Given the description of an element on the screen output the (x, y) to click on. 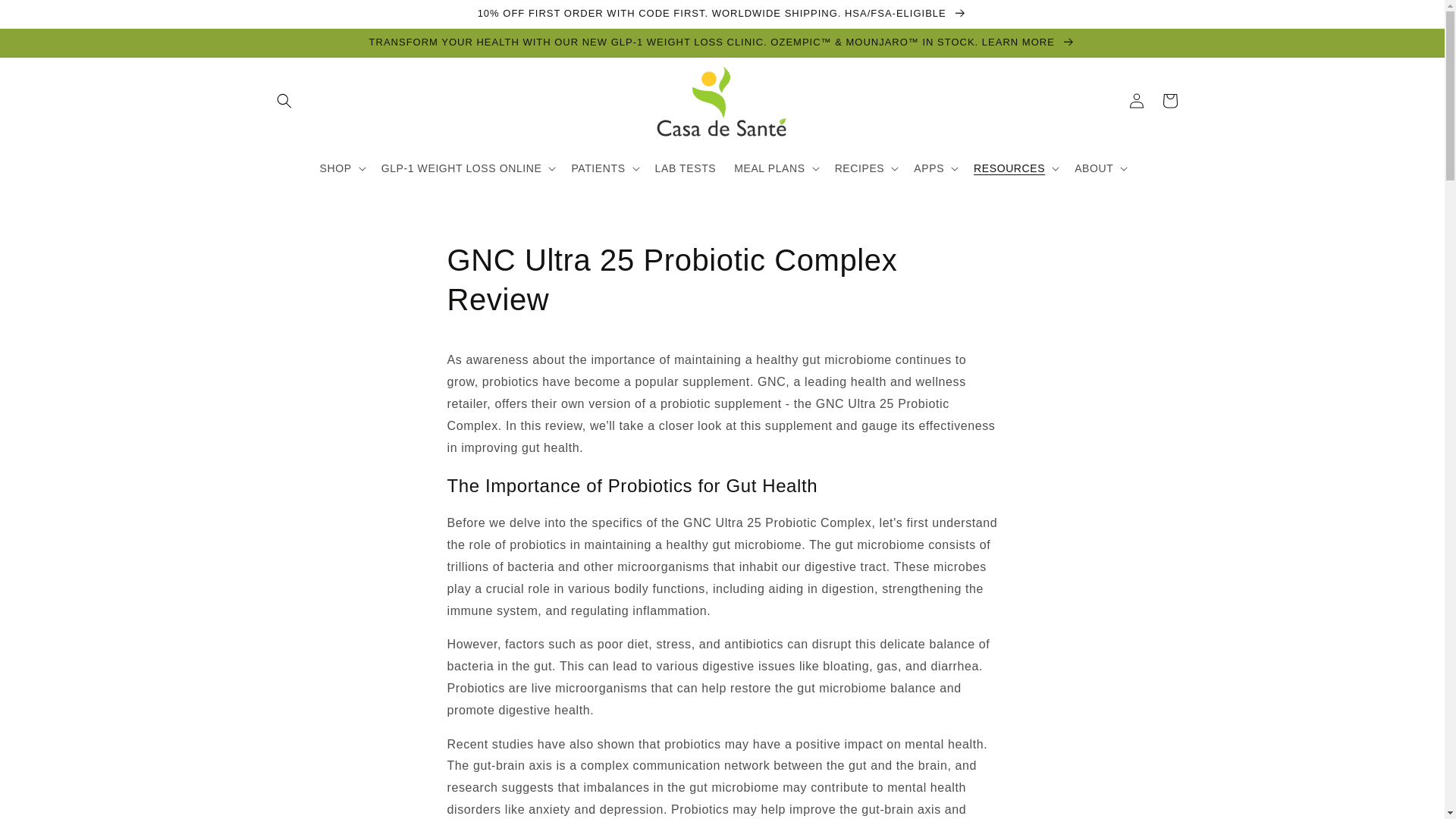
Skip to content (46, 18)
